Given the description of an element on the screen output the (x, y) to click on. 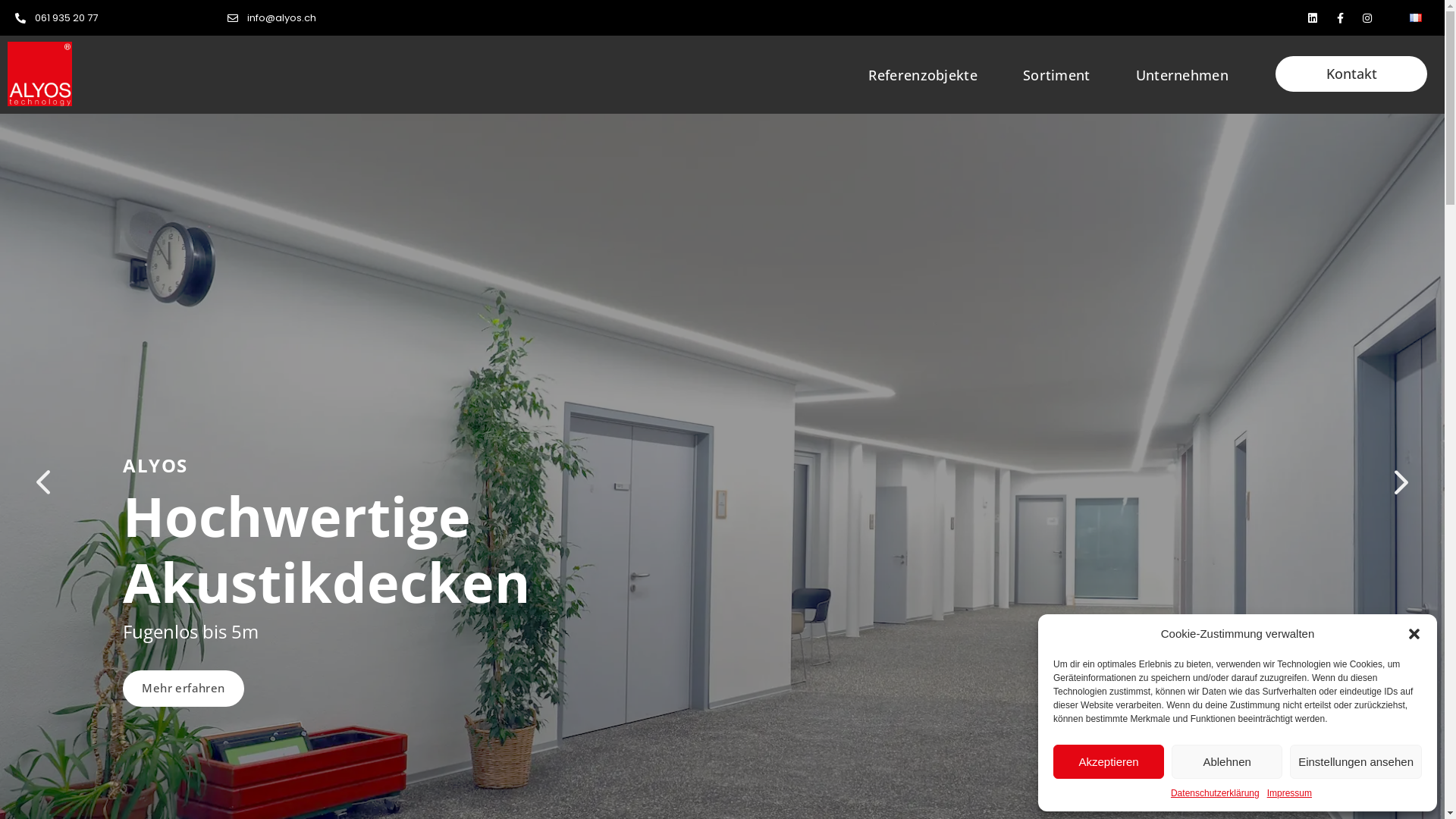
info@alyos.ch Element type: text (281, 17)
Akzeptieren Element type: text (1108, 761)
Kontakt Element type: text (1351, 73)
Referenzobjekte Element type: text (922, 74)
Ablehnen Element type: text (1226, 761)
Sortiment Element type: text (1056, 74)
Mehr erfahren Element type: text (182, 688)
Impressum Element type: text (1289, 793)
Unternehmen Element type: text (1182, 74)
Einstellungen ansehen Element type: text (1355, 761)
